Given the description of an element on the screen output the (x, y) to click on. 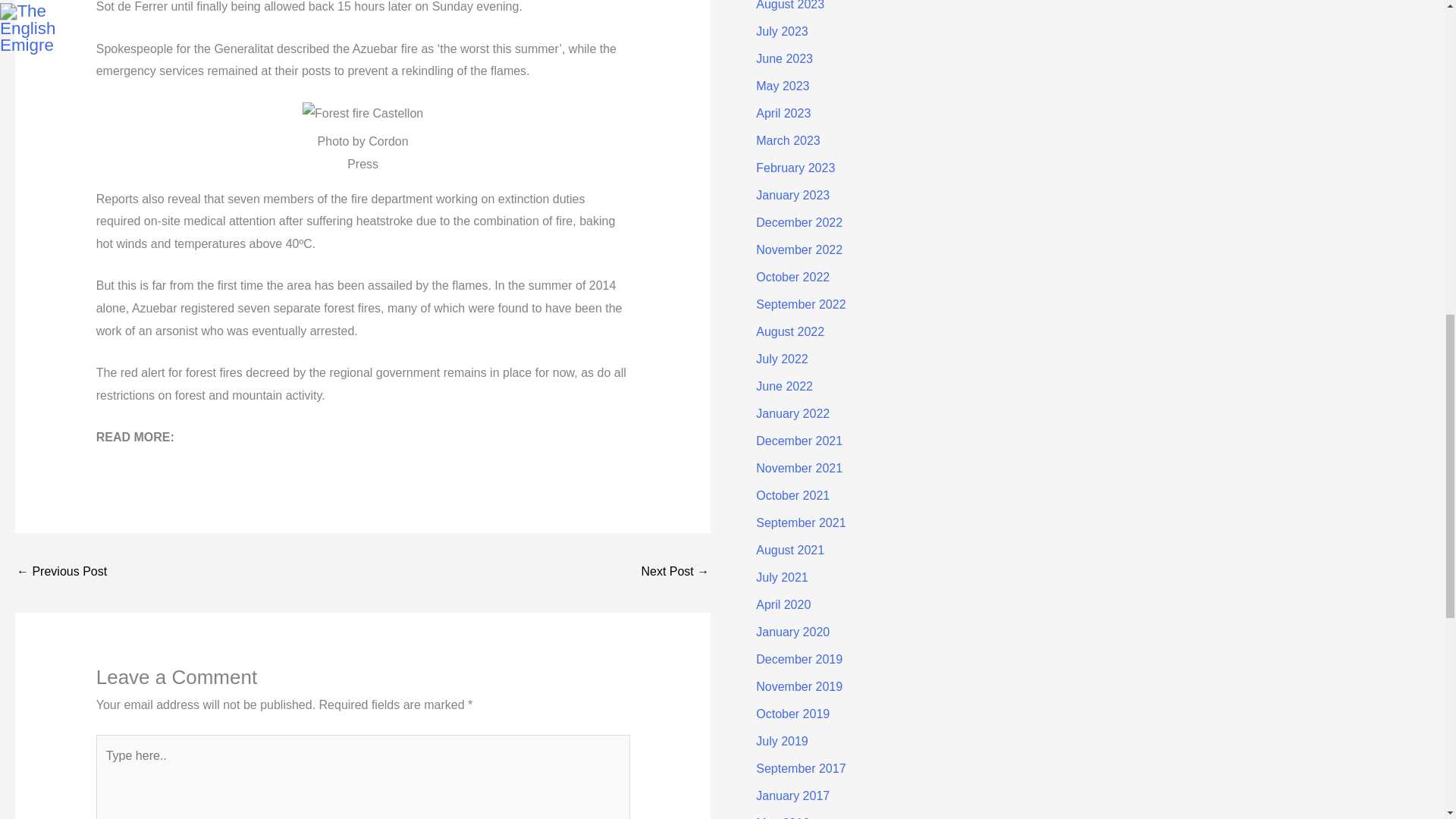
January 2023 (792, 195)
March 2023 (788, 140)
May 2023 (782, 85)
June 2023 (783, 58)
August 2023 (789, 5)
April 2023 (782, 113)
February 2023 (794, 167)
July 2023 (781, 31)
